Given the description of an element on the screen output the (x, y) to click on. 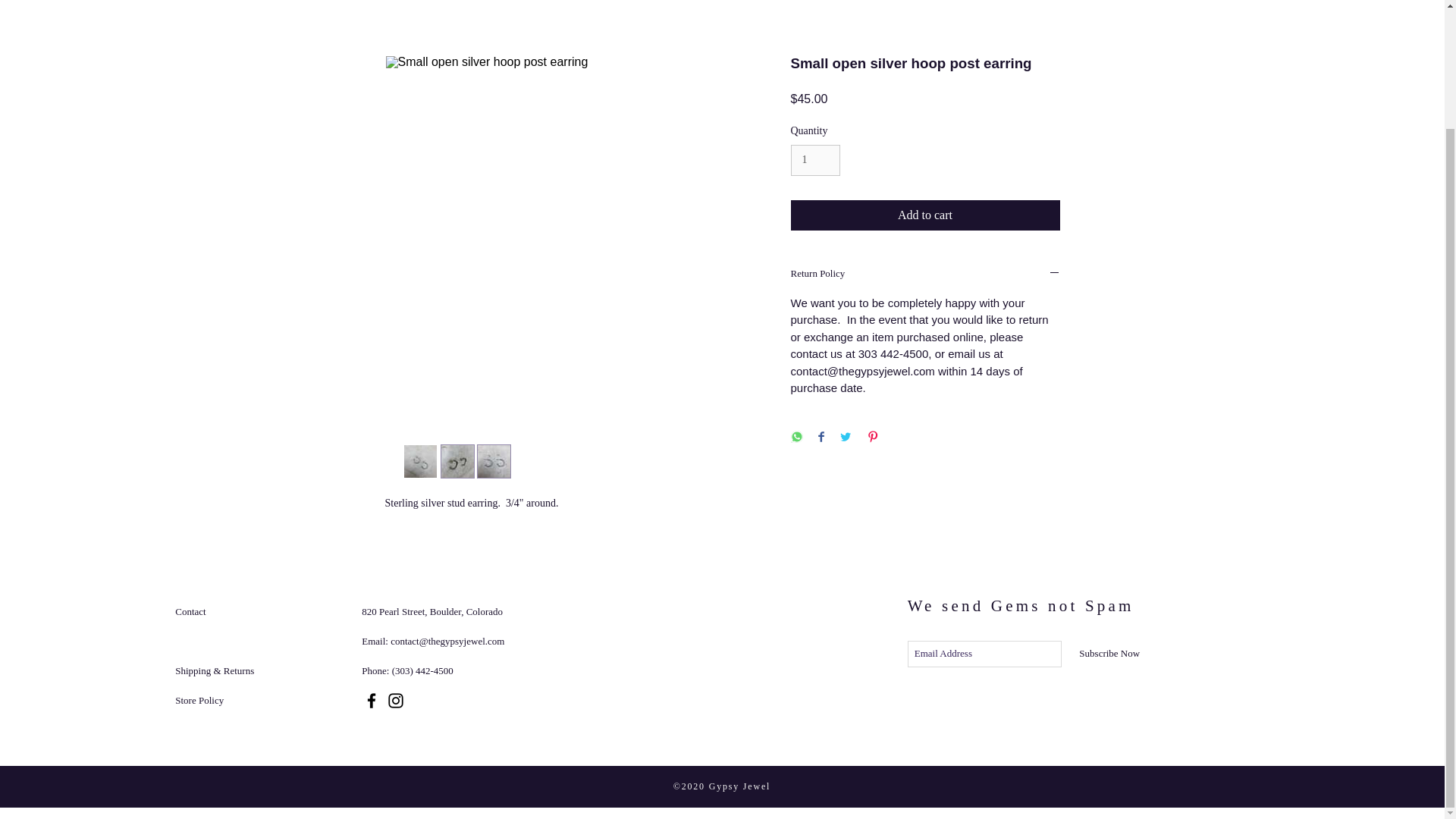
1 (815, 160)
Return Policy (924, 273)
Subscribe Now (1109, 653)
Add to cart (924, 214)
Faq (182, 641)
Contact (189, 611)
Store Policy (199, 699)
